Given the description of an element on the screen output the (x, y) to click on. 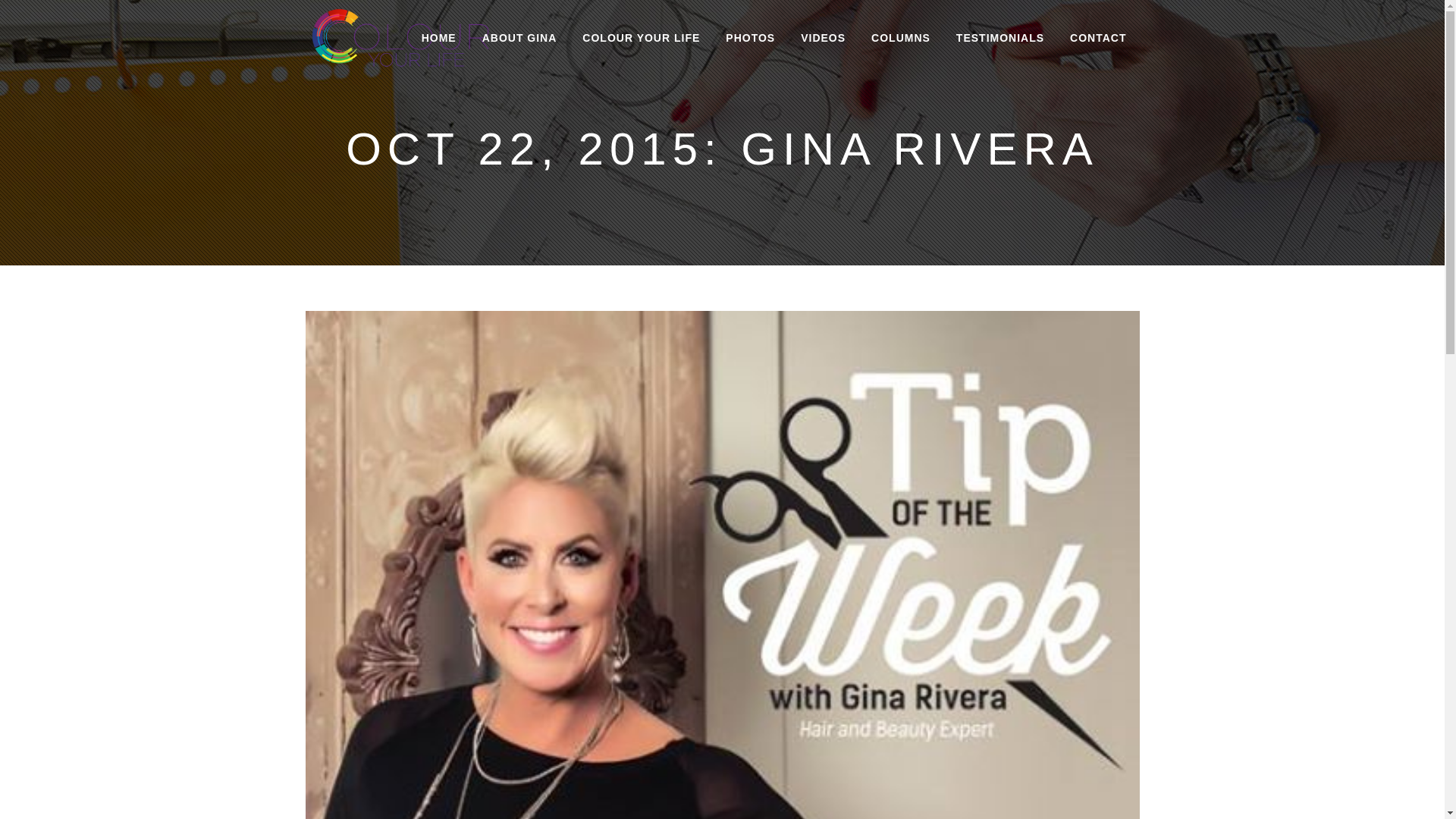
ABOUT GINA (519, 38)
TESTIMONIALS (1000, 38)
COLUMNS (901, 38)
COLOUR YOUR LIFE (641, 38)
VIDEOS (823, 38)
CONTACT (1097, 38)
PHOTOS (750, 38)
